Given the description of an element on the screen output the (x, y) to click on. 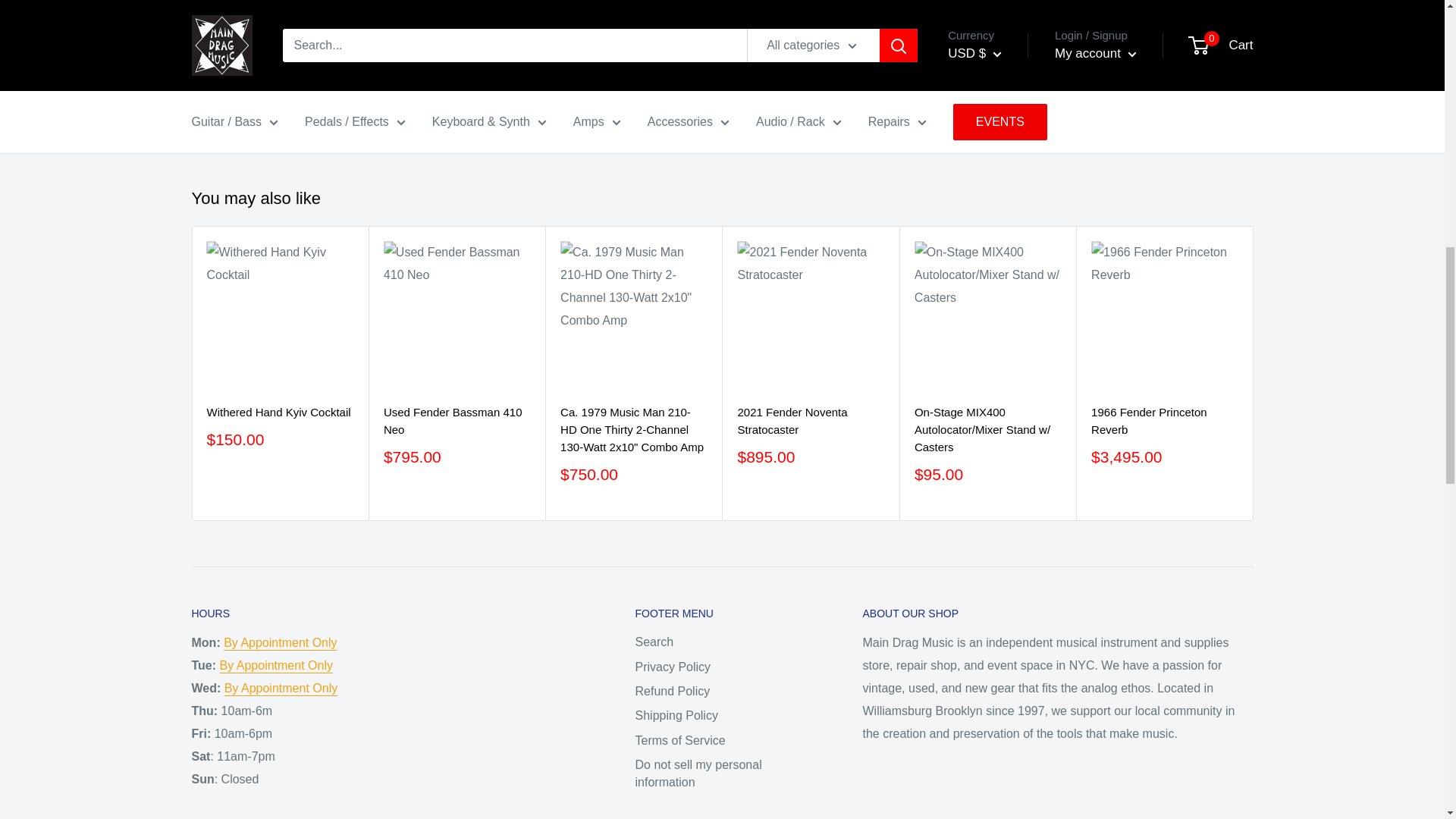
Make an Appointment (280, 687)
Make an Appointment (280, 642)
Make an Appointment (276, 665)
